Given the description of an element on the screen output the (x, y) to click on. 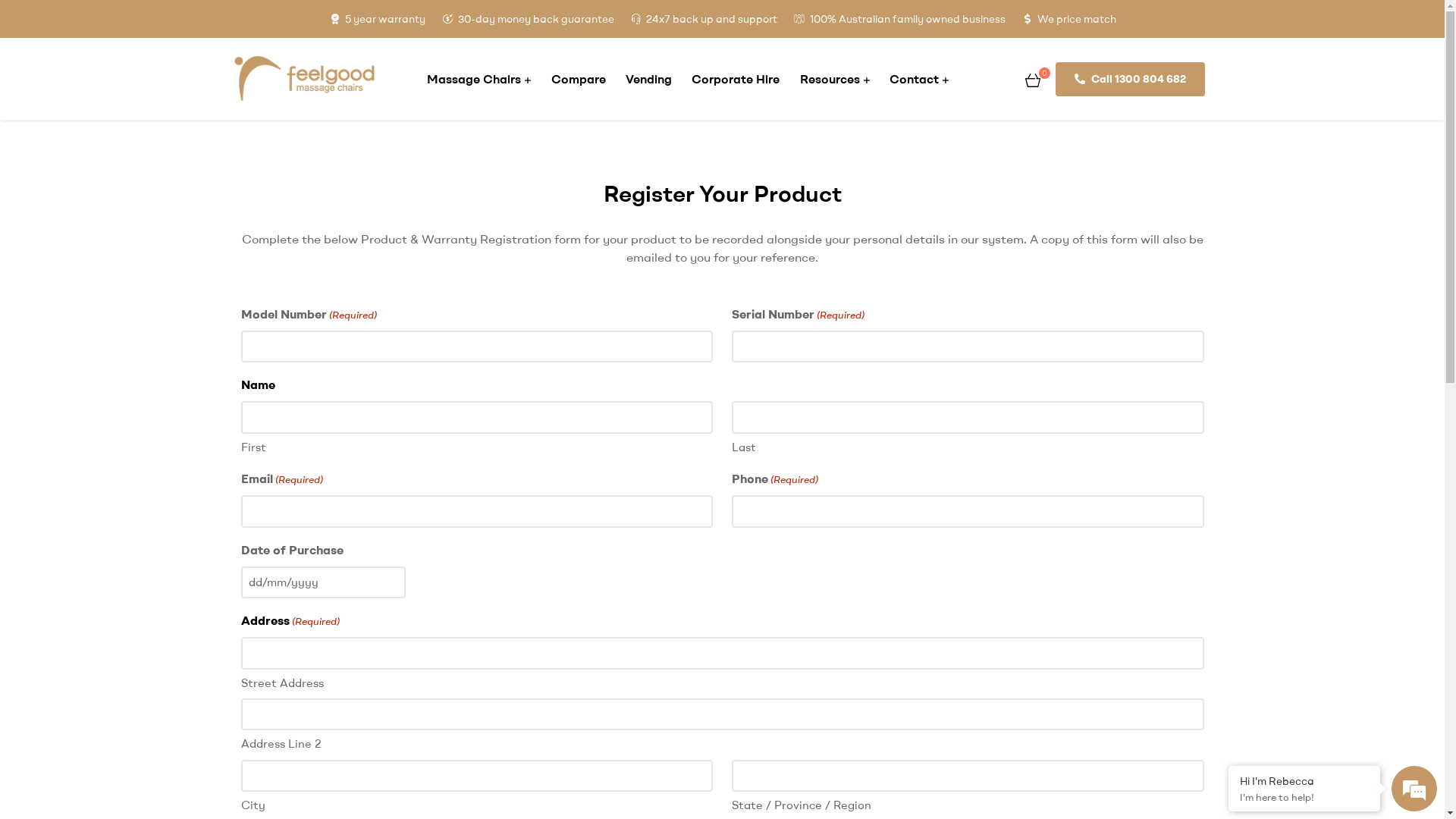
Call 1300 804 682 Element type: text (1129, 79)
0 Element type: text (1032, 78)
Compare Element type: text (577, 78)
Massage Chairs Element type: text (478, 78)
Vending Element type: text (648, 78)
Resources Element type: text (834, 78)
Contact Element type: text (919, 78)
Corporate Hire Element type: text (735, 78)
